Given the description of an element on the screen output the (x, y) to click on. 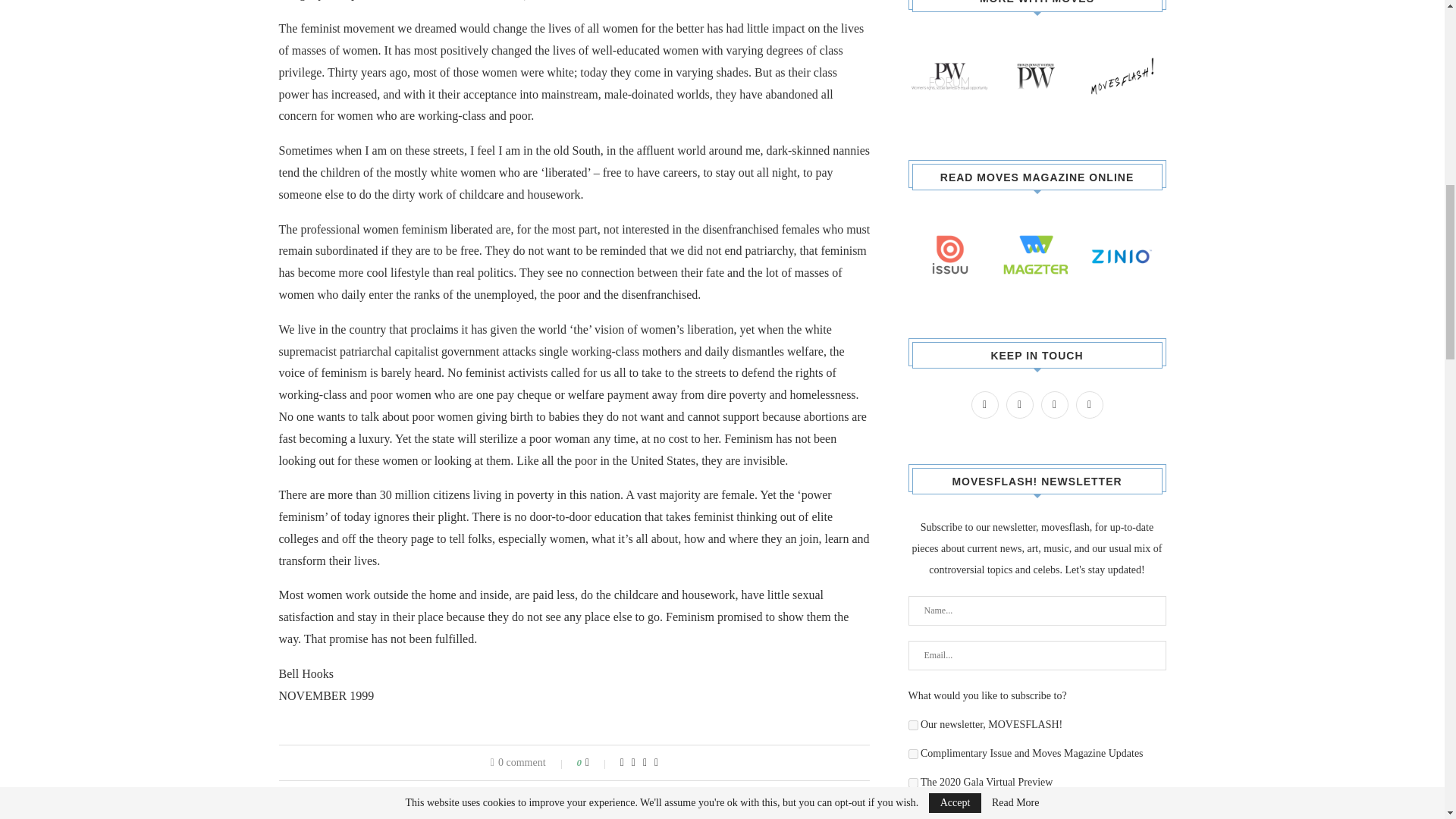
f95fda35ae (913, 754)
Like (597, 762)
746c20e49d (913, 725)
Subscribe (1037, 813)
fb5e4d2cbb (913, 782)
